Given the description of an element on the screen output the (x, y) to click on. 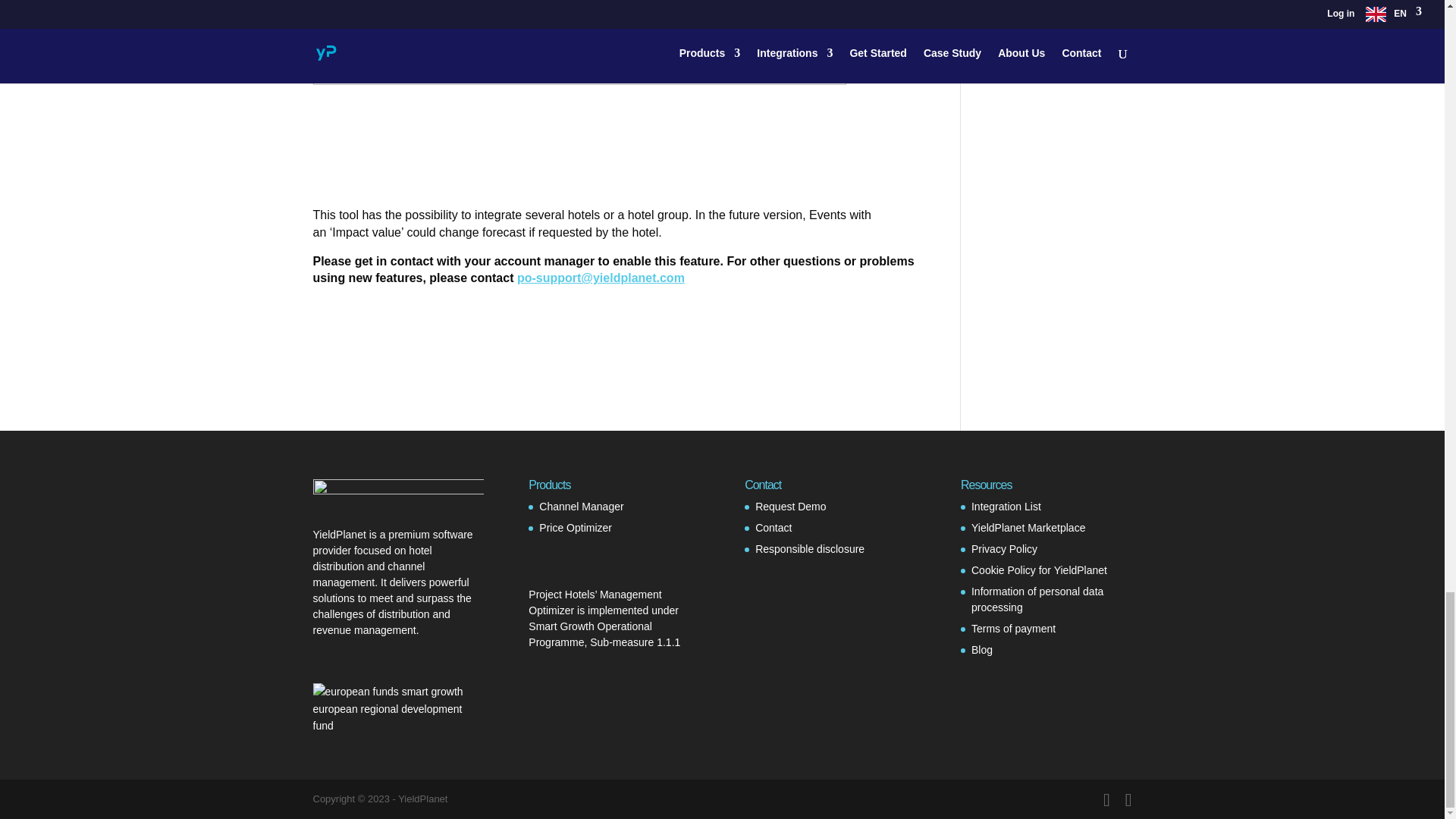
Price Optimizer (574, 527)
Responsible disclosure (809, 548)
Terms of payment (1013, 628)
Cookie Policy for YieldPlanet (1038, 570)
Channel Manager (580, 506)
Privacy Policy (1003, 548)
Information of personal data processing (1037, 599)
Integration List (1006, 506)
Contact (773, 527)
Request Demo (790, 506)
